Given the description of an element on the screen output the (x, y) to click on. 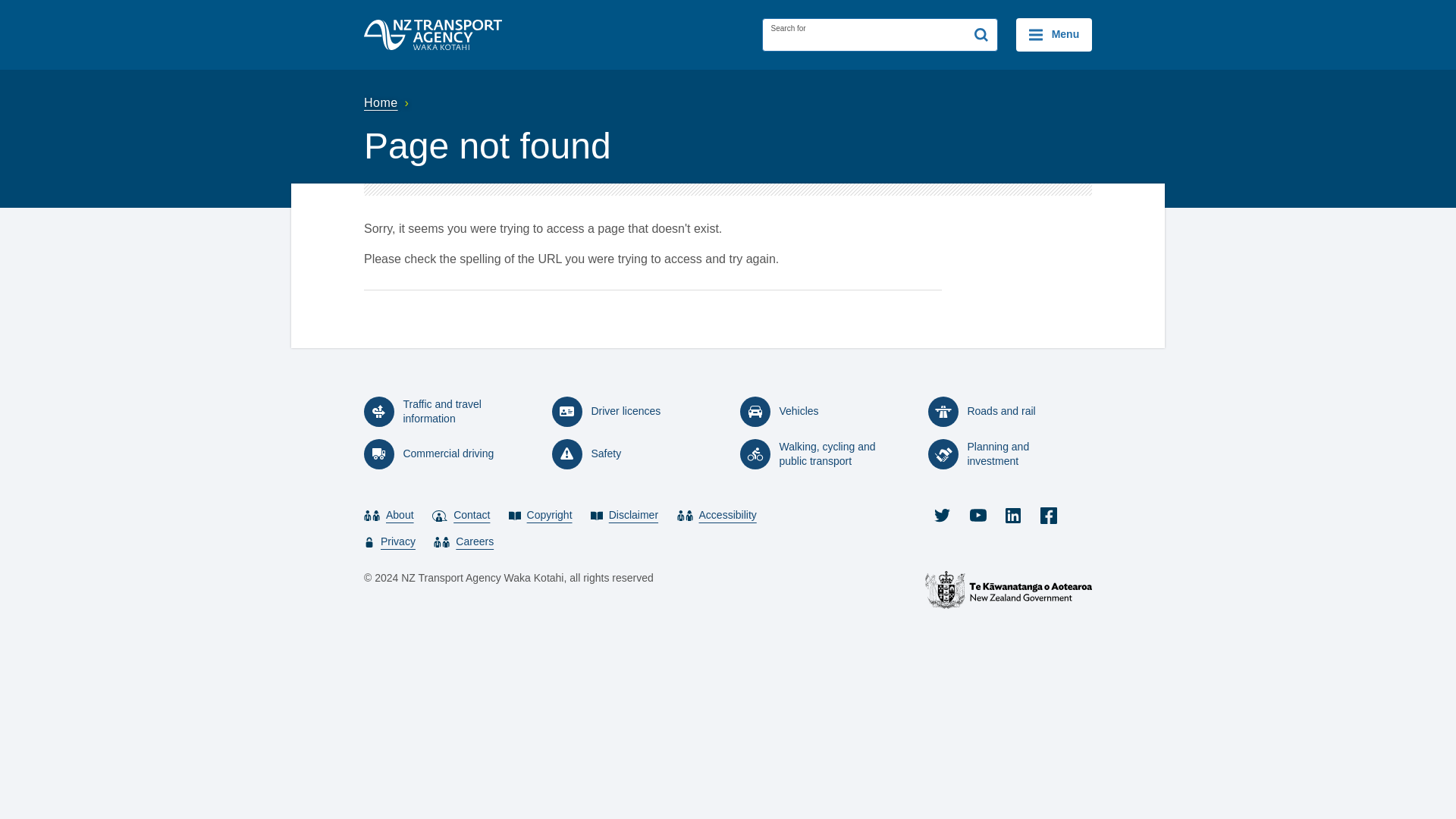
NZ Transport Agency Waka Kotahi (433, 34)
Home (388, 102)
Menu (1054, 34)
